Given the description of an element on the screen output the (x, y) to click on. 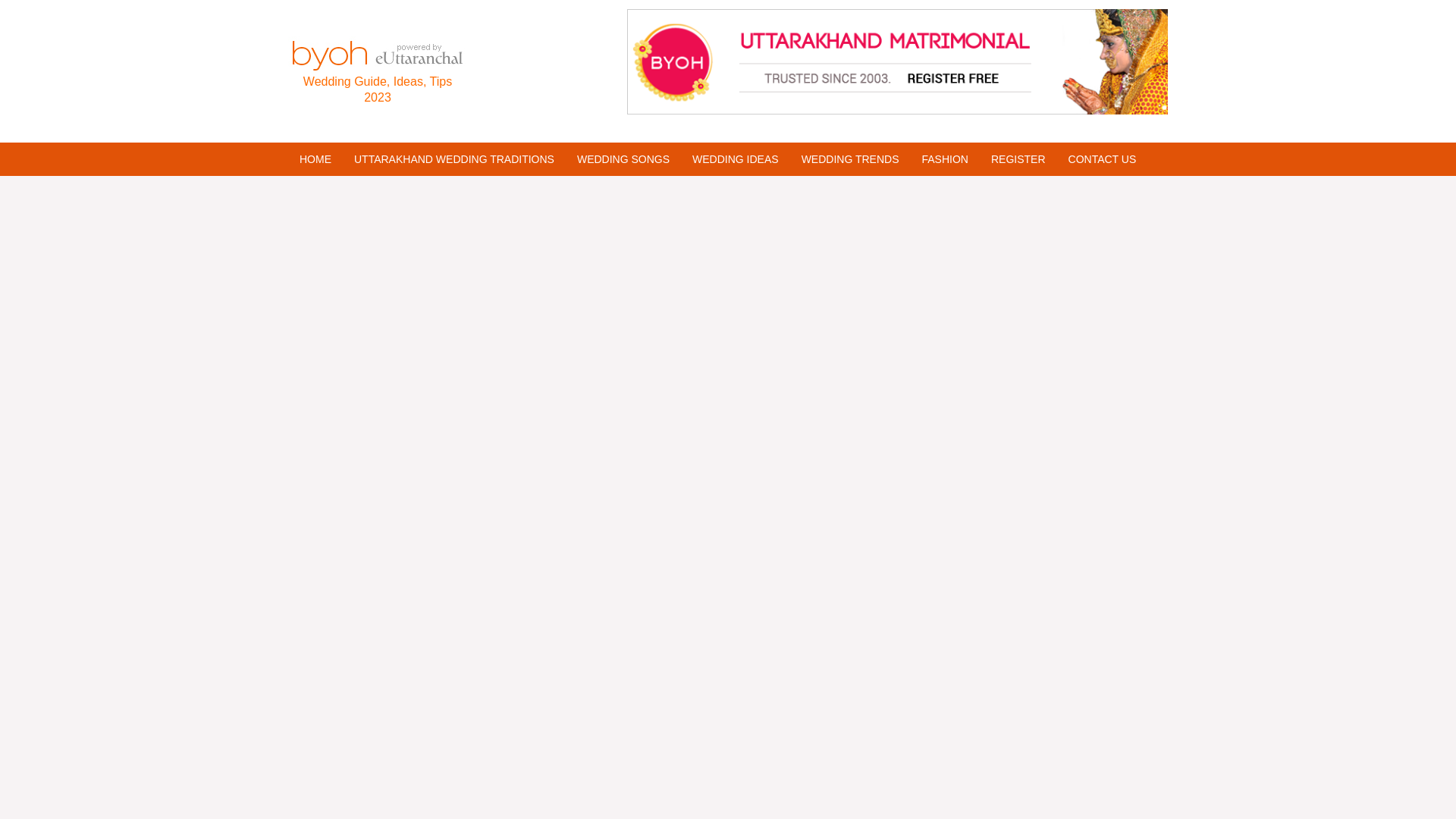
UTTARAKHAND WEDDING TRADITIONS (454, 159)
HOME (315, 159)
WEDDING SONGS (623, 159)
WEDDING TRENDS (850, 159)
CONTACT US (1102, 159)
Wedding Guide, Ideas, Tips 2023 (376, 89)
WEDDING IDEAS (735, 159)
FASHION (944, 159)
REGISTER (1018, 159)
